Given the description of an element on the screen output the (x, y) to click on. 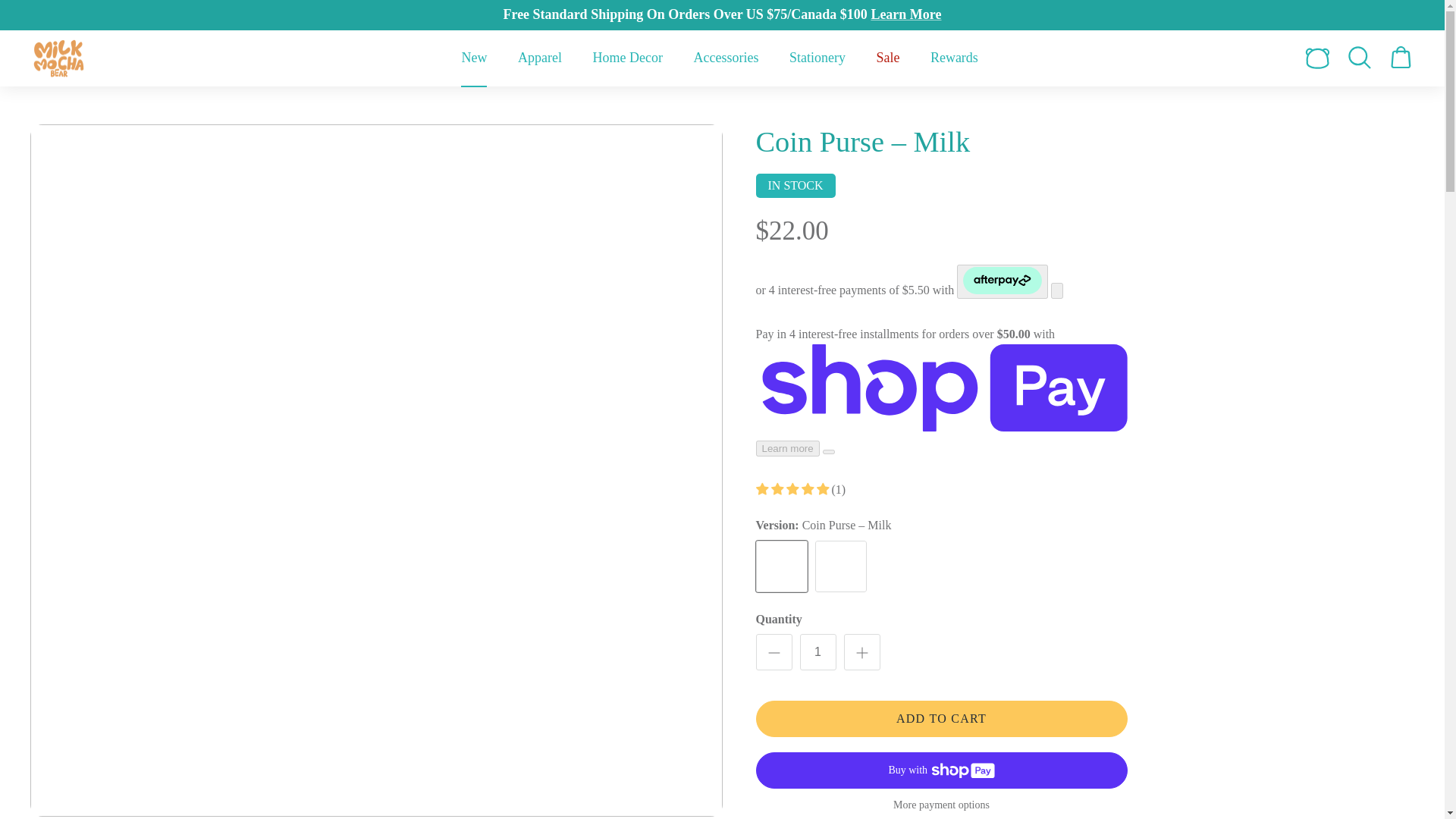
Stationery (817, 58)
Cart (1400, 58)
Learn More (905, 14)
Account (1314, 58)
Sale (886, 58)
Minus (773, 652)
Milkmochabear (58, 58)
Search (1359, 58)
Rewards (954, 58)
Home Decor (626, 58)
1 (817, 651)
Plus (860, 652)
Accessories (725, 58)
Apparel (539, 58)
New (473, 58)
